Given the description of an element on the screen output the (x, y) to click on. 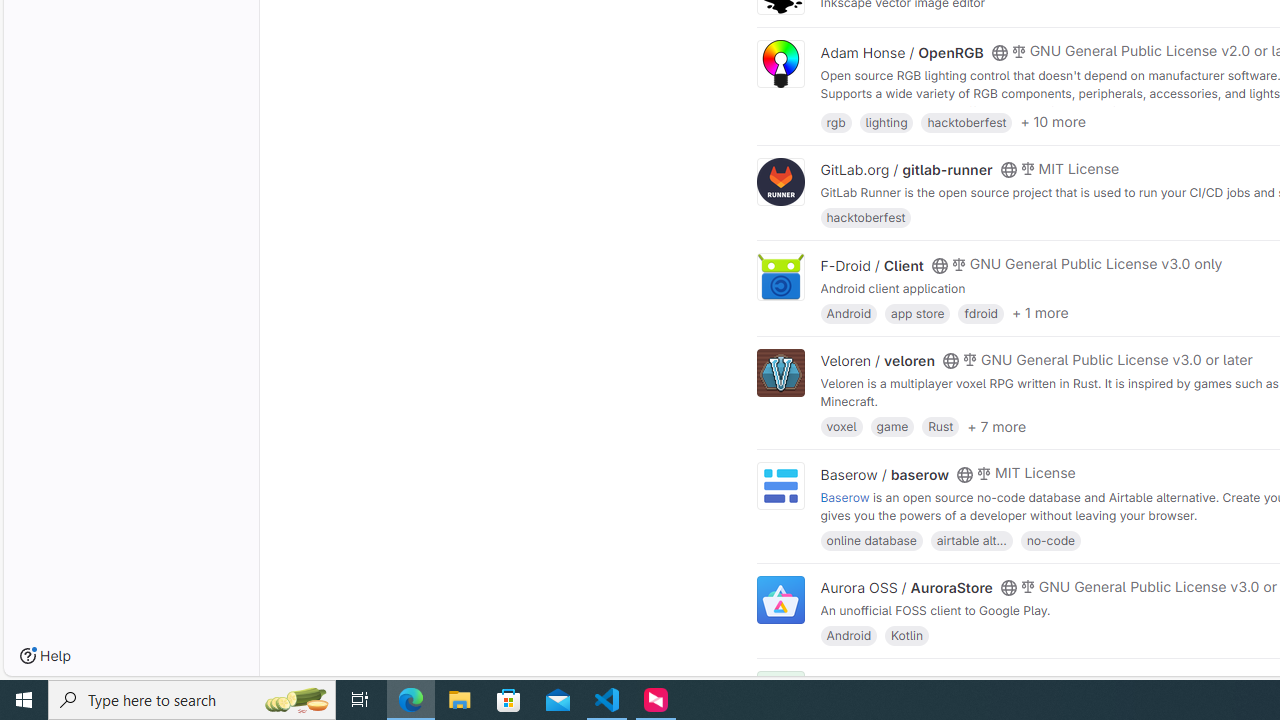
Android (848, 634)
+ 7 more (996, 425)
F (780, 695)
Baserow / baserow (884, 474)
Class: s14 gl-mr-2 (1018, 681)
app store (917, 312)
Edouard Klein / falsisign (902, 682)
+ 10 more (1053, 121)
